Given the description of an element on the screen output the (x, y) to click on. 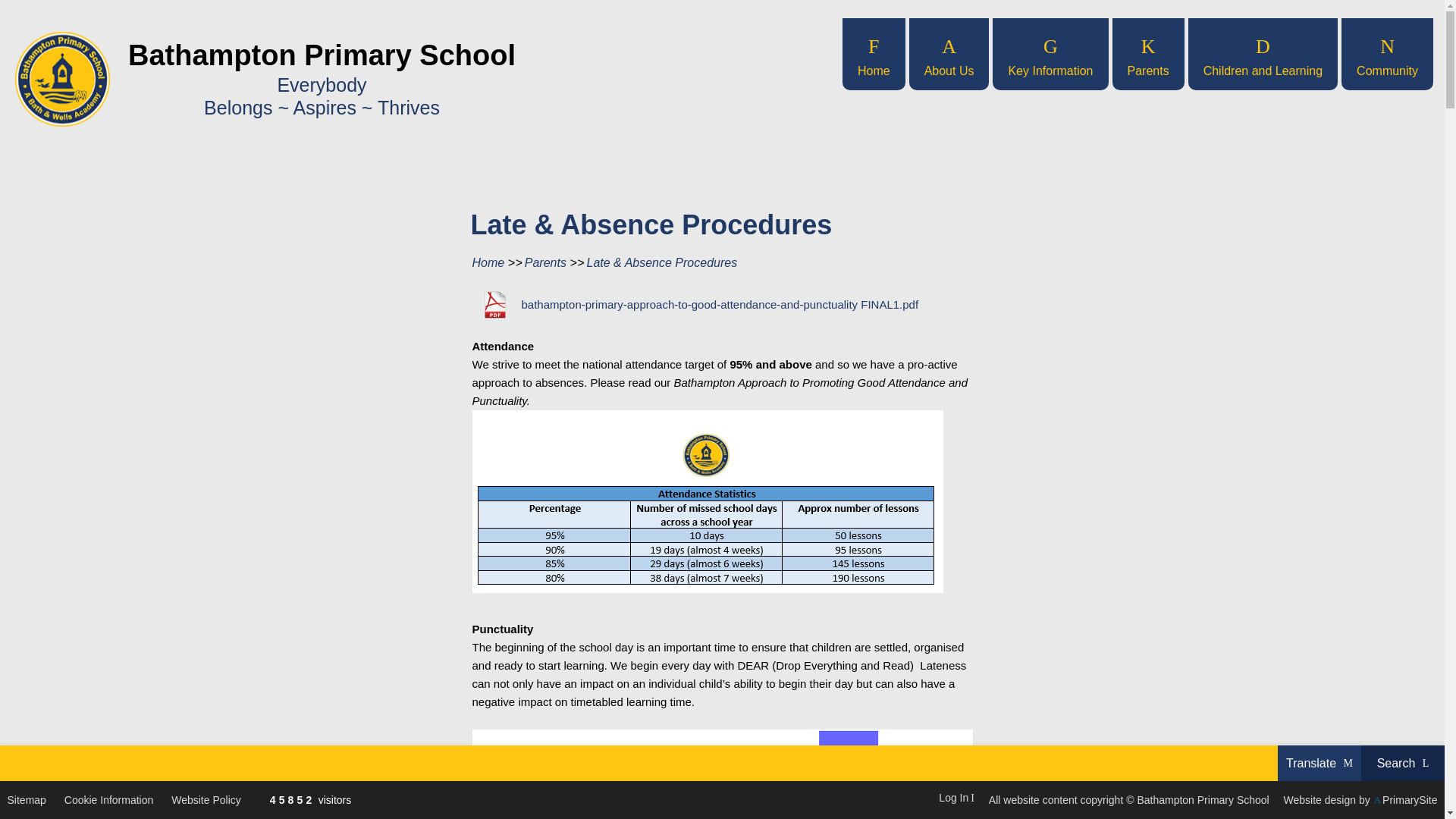
Key Information (1050, 54)
About Us (949, 54)
Parents (1147, 54)
Home Page (62, 78)
